Given the description of an element on the screen output the (x, y) to click on. 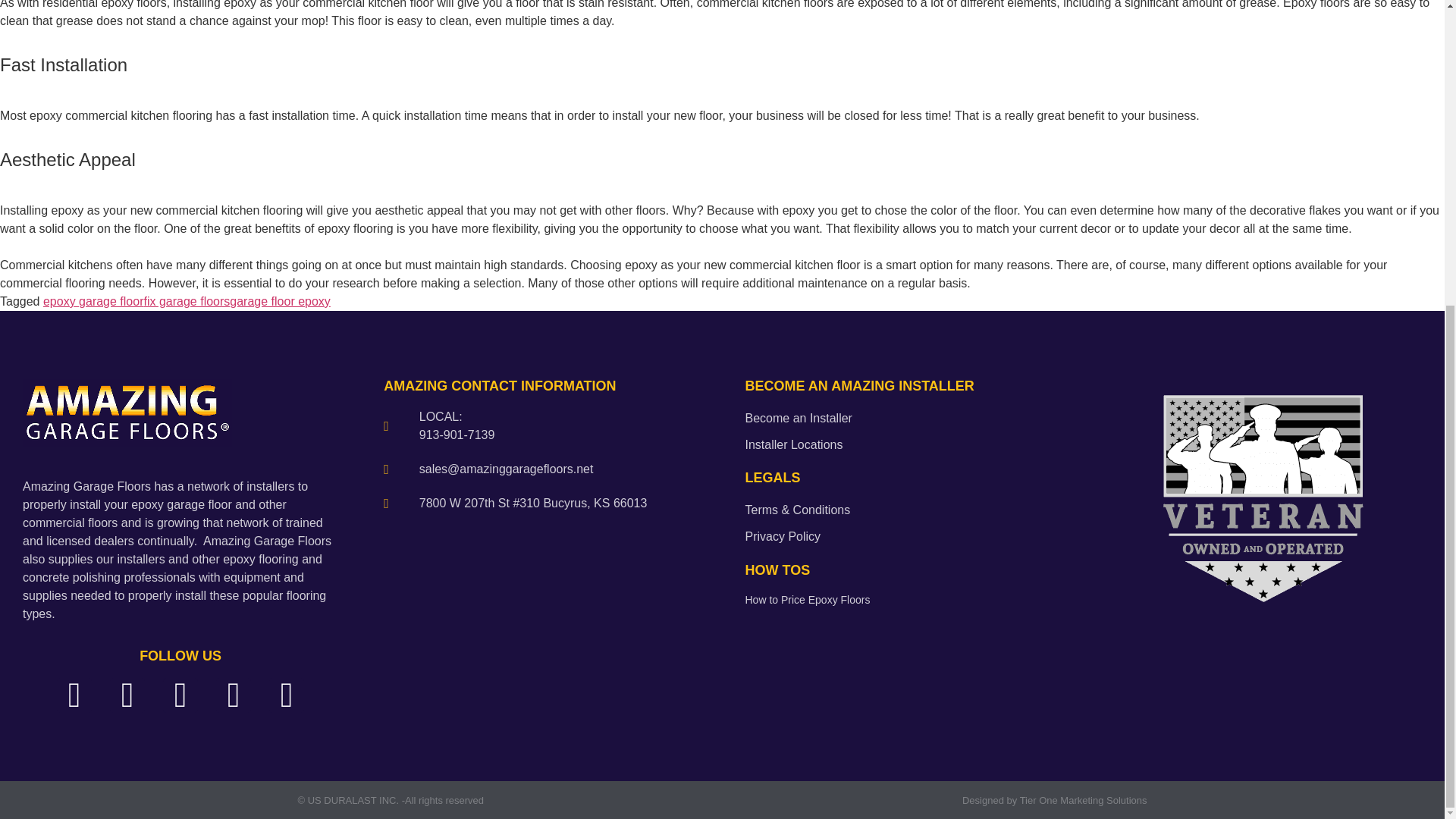
Installer Locations (901, 445)
Privacy Policy (901, 536)
fix garage floors (186, 300)
epoxy garage floor (93, 300)
How to Price Epoxy Floors (901, 600)
garage floor epoxy (280, 300)
Become an Installer (901, 418)
